Given the description of an element on the screen output the (x, y) to click on. 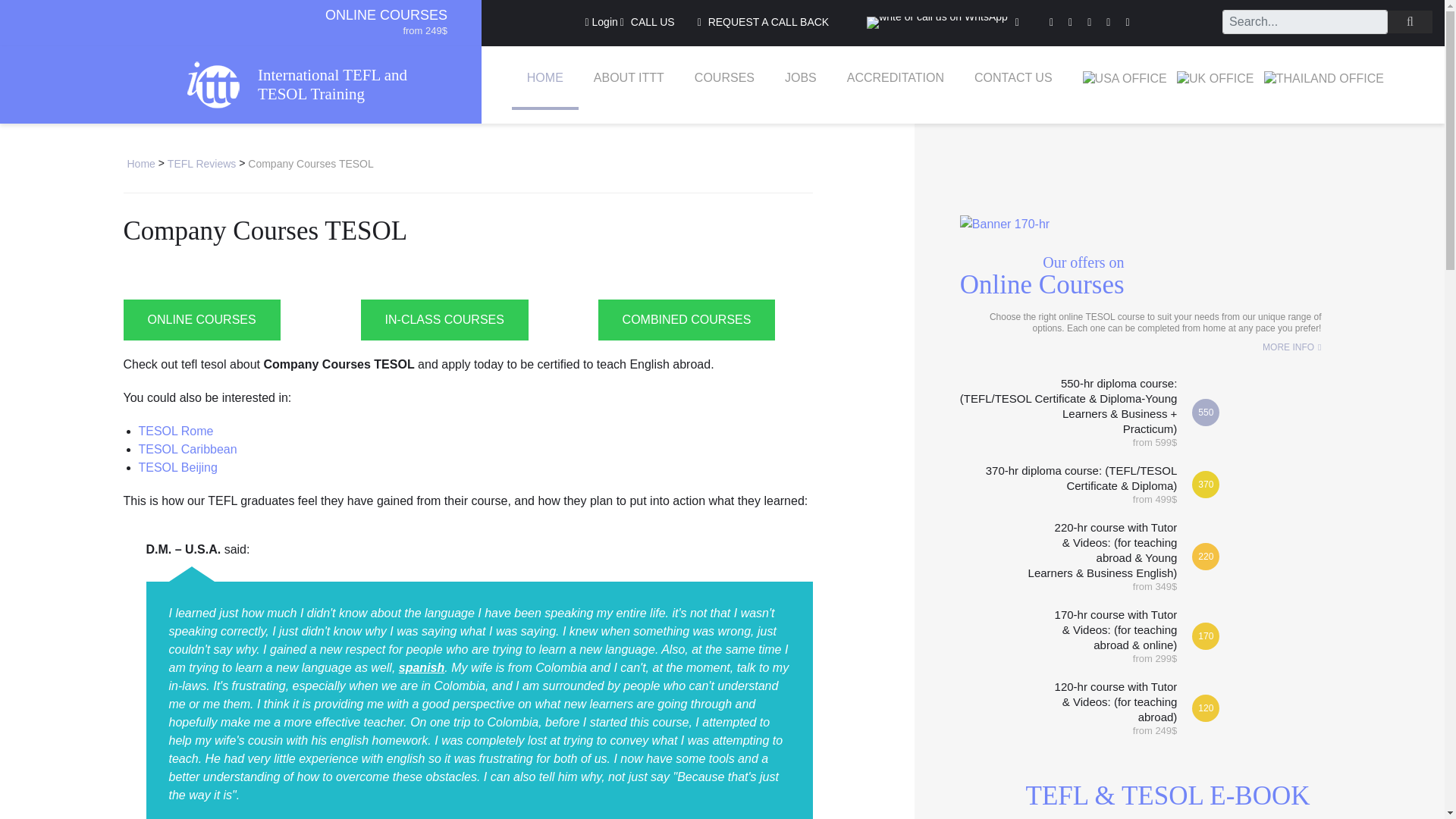
TESOL Beijing (177, 467)
COURSES (724, 77)
UK Office (1214, 78)
CONTACT US (1013, 77)
ONLINE COURSES (385, 14)
ACCREDITATION (895, 77)
HOME (545, 77)
JOBS (800, 77)
Login (601, 22)
TESOL Caribbean (186, 449)
Thailand Office (1323, 78)
ABOUT ITTT (628, 77)
TESOL Rome (175, 431)
